Given the description of an element on the screen output the (x, y) to click on. 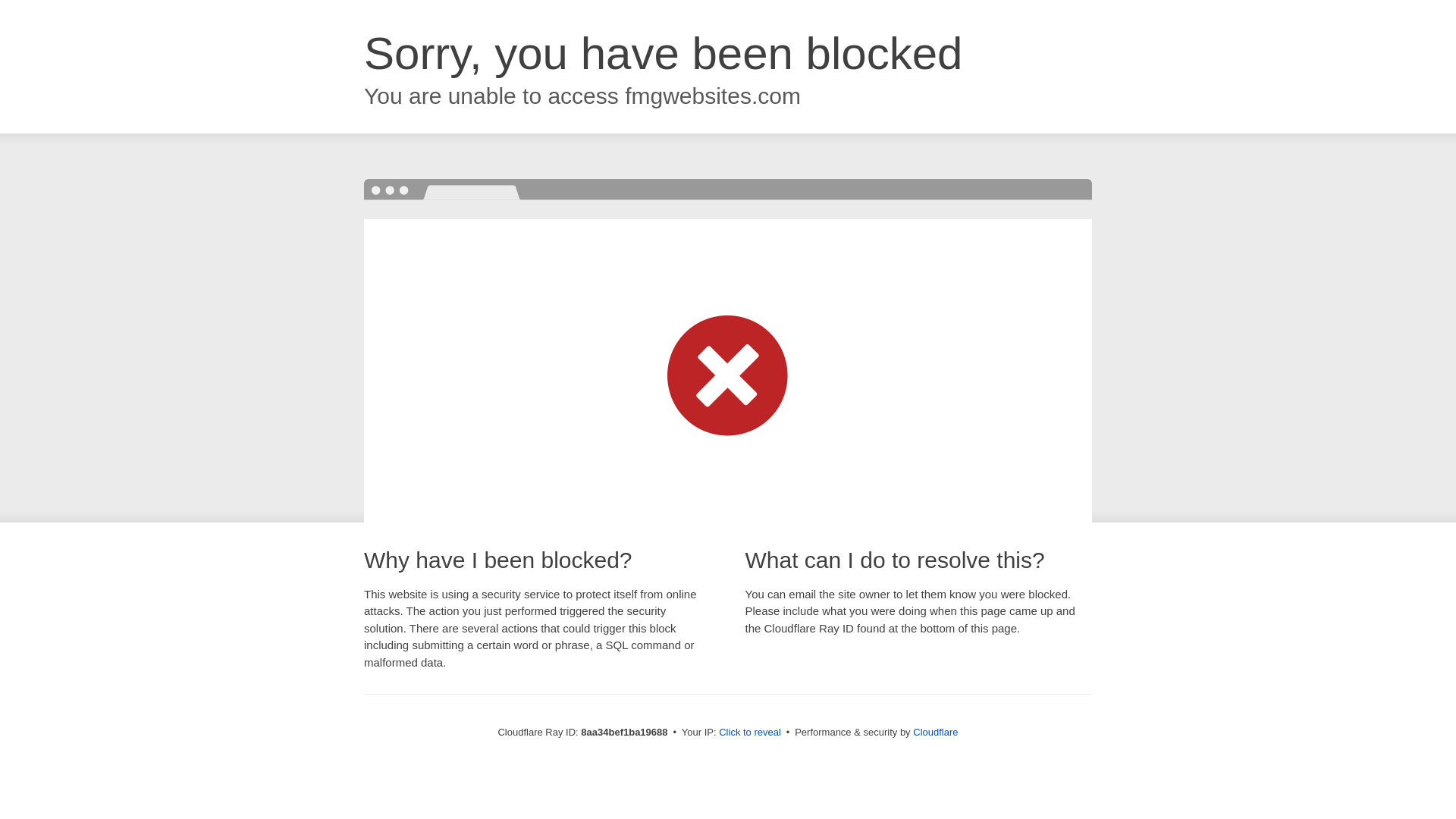
Cloudflare (935, 731)
Click to reveal (749, 732)
